Given the description of an element on the screen output the (x, y) to click on. 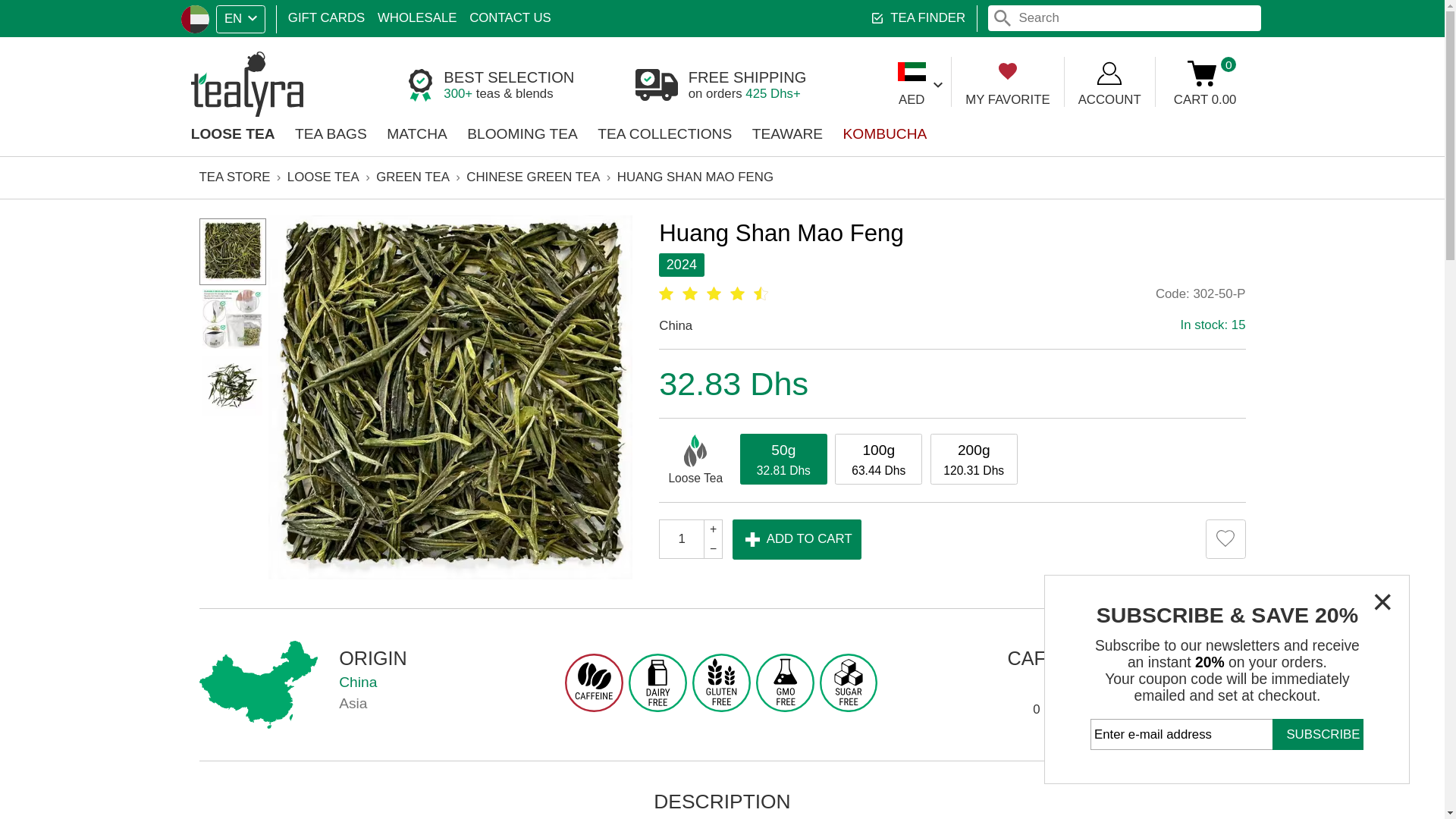
Enter e-mail address (1022, 611)
1 (567, 449)
TEA FINDER (764, 15)
AED (759, 70)
WHOLESALE (347, 15)
MY FAVORITE (839, 68)
AE (1004, 68)
CONTACT US (162, 15)
EN (425, 15)
LOOSE TEA (200, 15)
Tealyra Middle East (194, 111)
ACCOUNT (207, 70)
GIFT CARDS (924, 68)
